Given the description of an element on the screen output the (x, y) to click on. 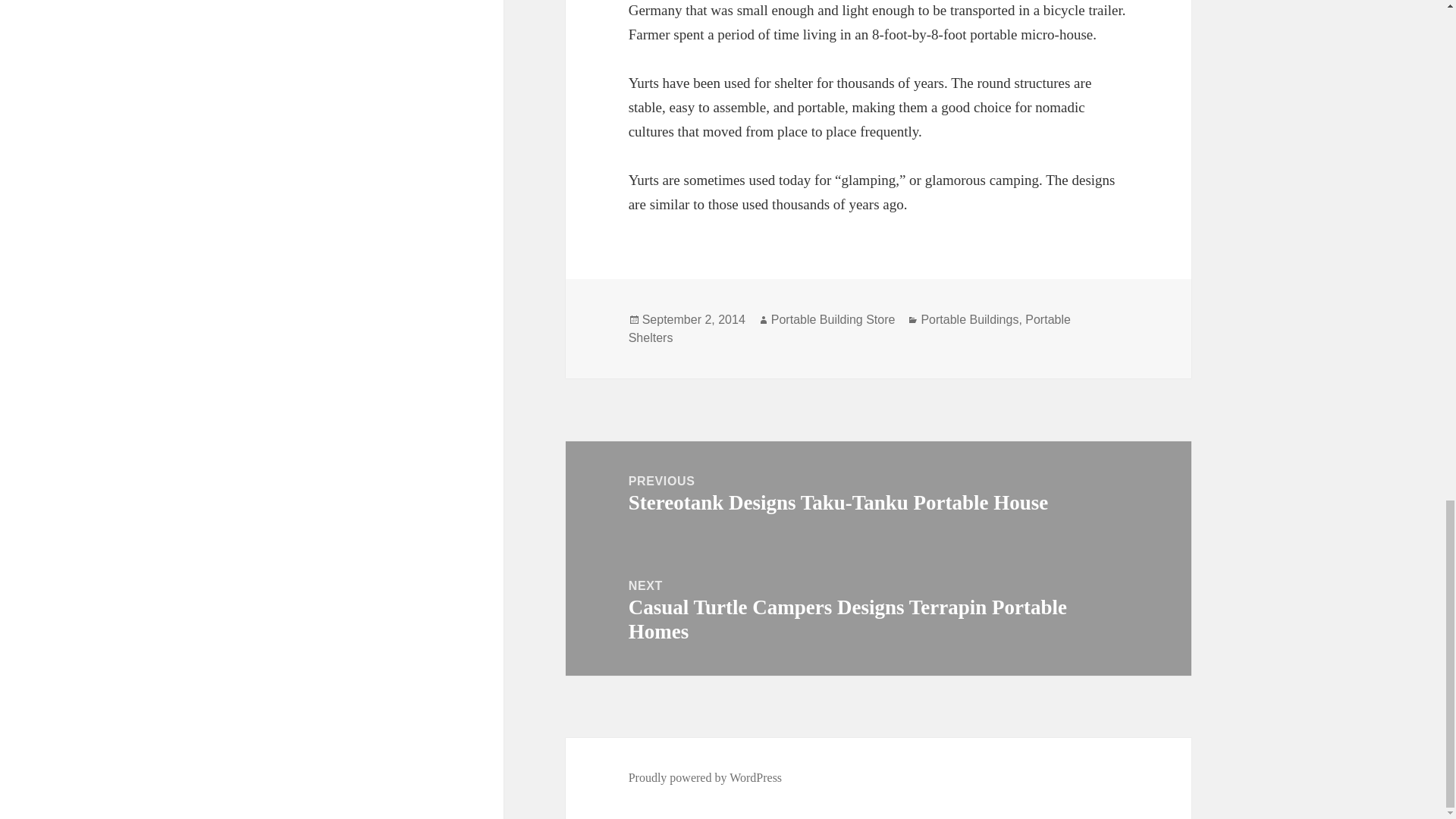
Proudly powered by WordPress (704, 777)
Portable Buildings (968, 319)
Portable Building Store (833, 319)
Portable Shelters (849, 328)
September 2, 2014 (693, 319)
